Given the description of an element on the screen output the (x, y) to click on. 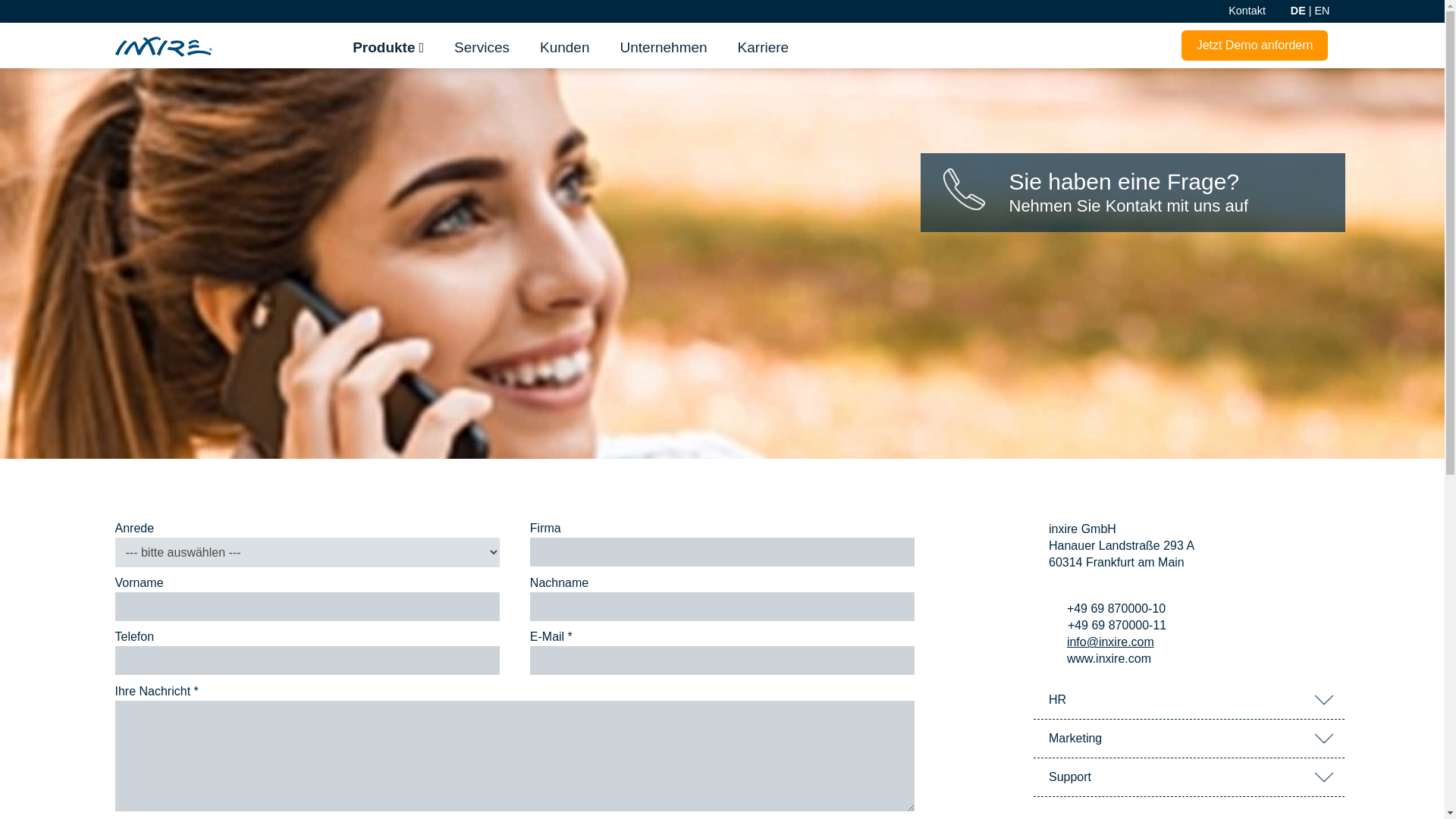
Jetzt Demo anfordern (1254, 45)
Karriere (763, 44)
EN (1322, 10)
Kontakt (1246, 10)
Unternehmen (663, 44)
Kunden (564, 44)
Produkte (387, 44)
Services (481, 44)
